Given the description of an element on the screen output the (x, y) to click on. 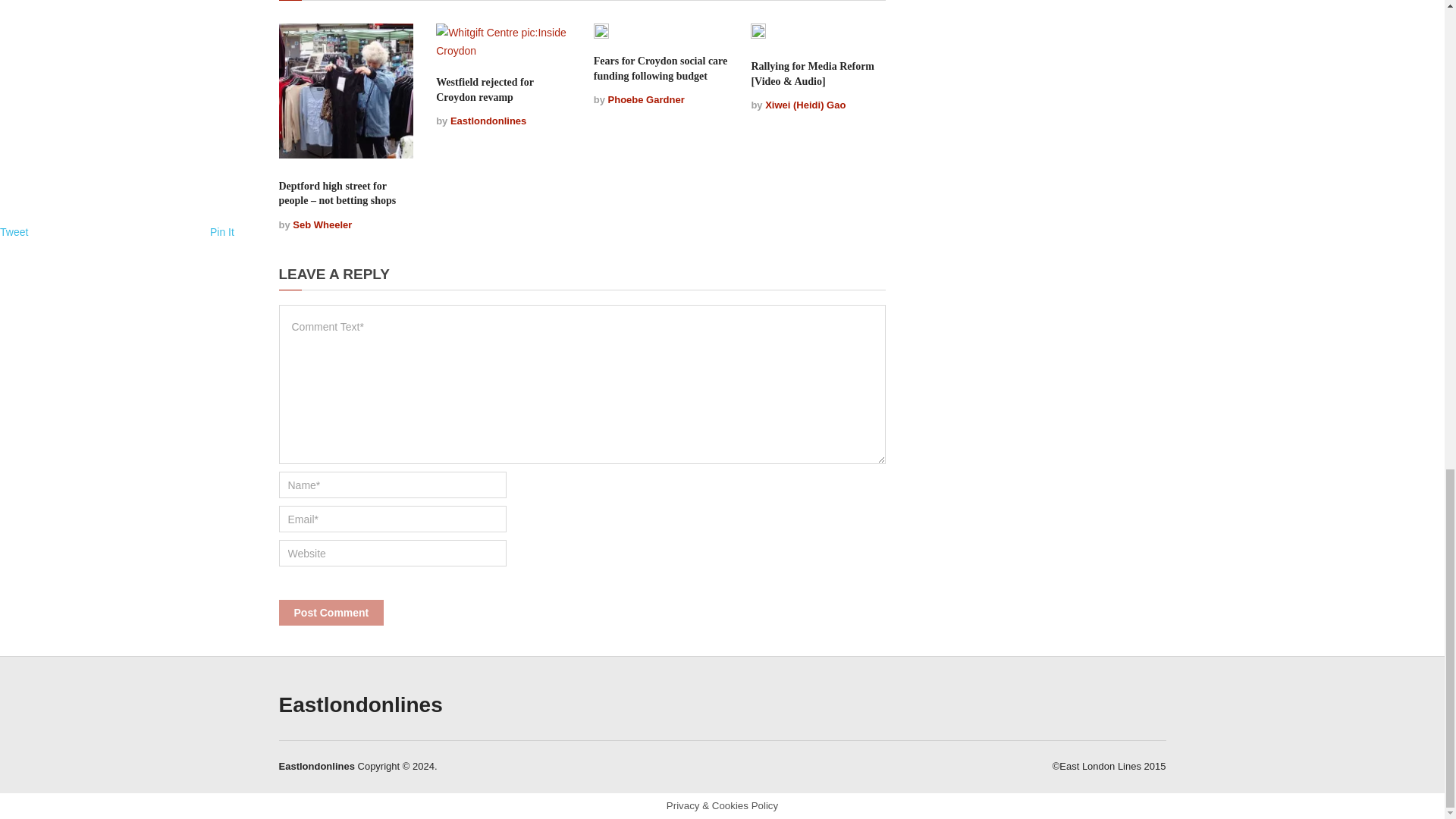
Fears for Croydon social care funding following budget (661, 68)
Posts by Seb Wheeler (322, 224)
Posts by Phoebe Gardner (646, 99)
Westfield rejected for Croydon revamp (484, 89)
Post Comment (331, 612)
Posts by Eastlondonlines (487, 120)
